Given the description of an element on the screen output the (x, y) to click on. 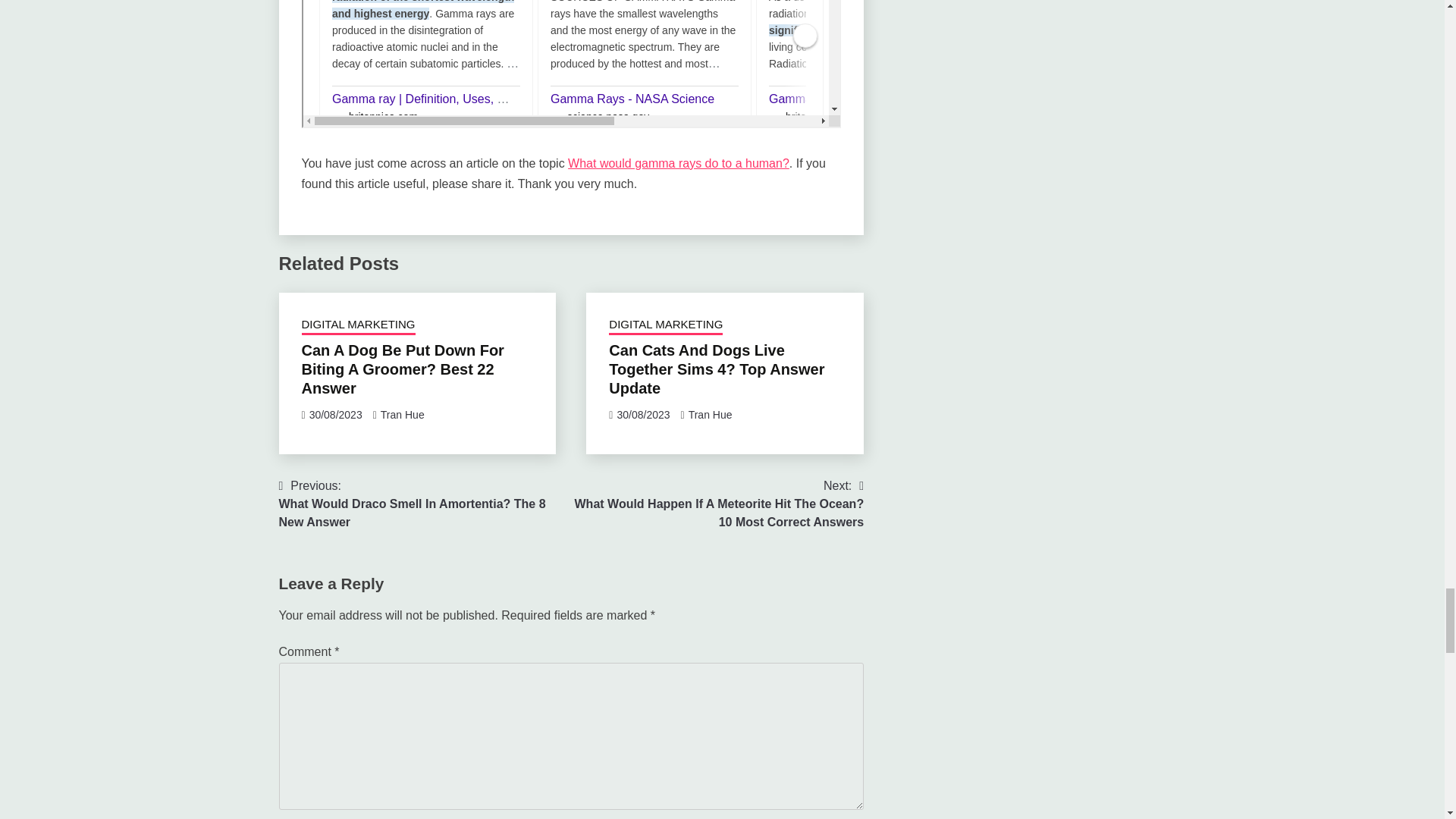
Can A Dog Be Put Down For Biting A Groomer? Best 22 Answer (402, 369)
Tran Hue (710, 414)
DIGITAL MARKETING (357, 325)
What would gamma rays do to a human? (571, 63)
Tran Hue (402, 414)
Can Cats And Dogs Live Together Sims 4? Top Answer Update (716, 369)
DIGITAL MARKETING (665, 325)
What would gamma rays do to a human? (678, 163)
